Given the description of an element on the screen output the (x, y) to click on. 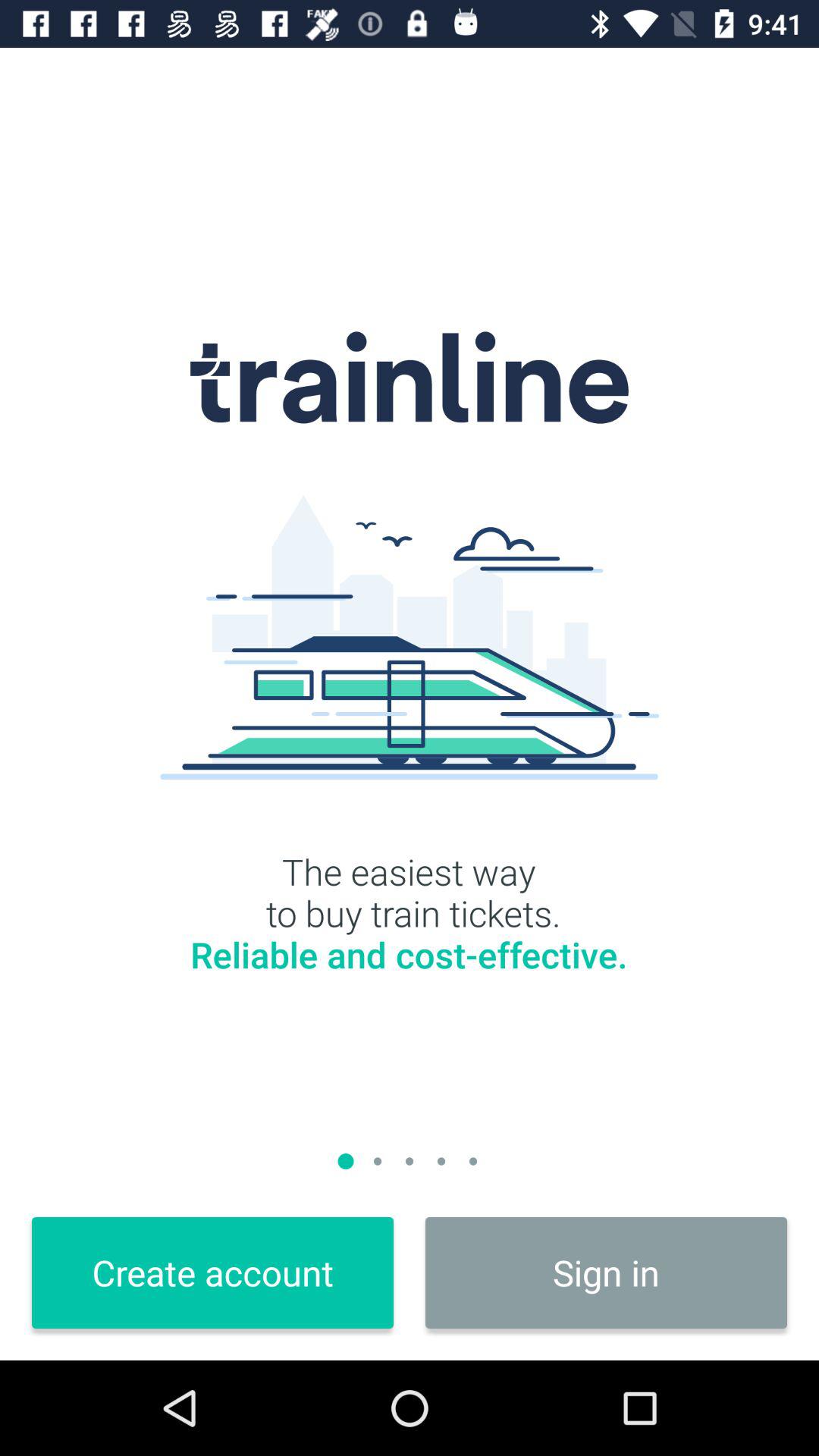
select sign in at the bottom right corner (606, 1272)
